Given the description of an element on the screen output the (x, y) to click on. 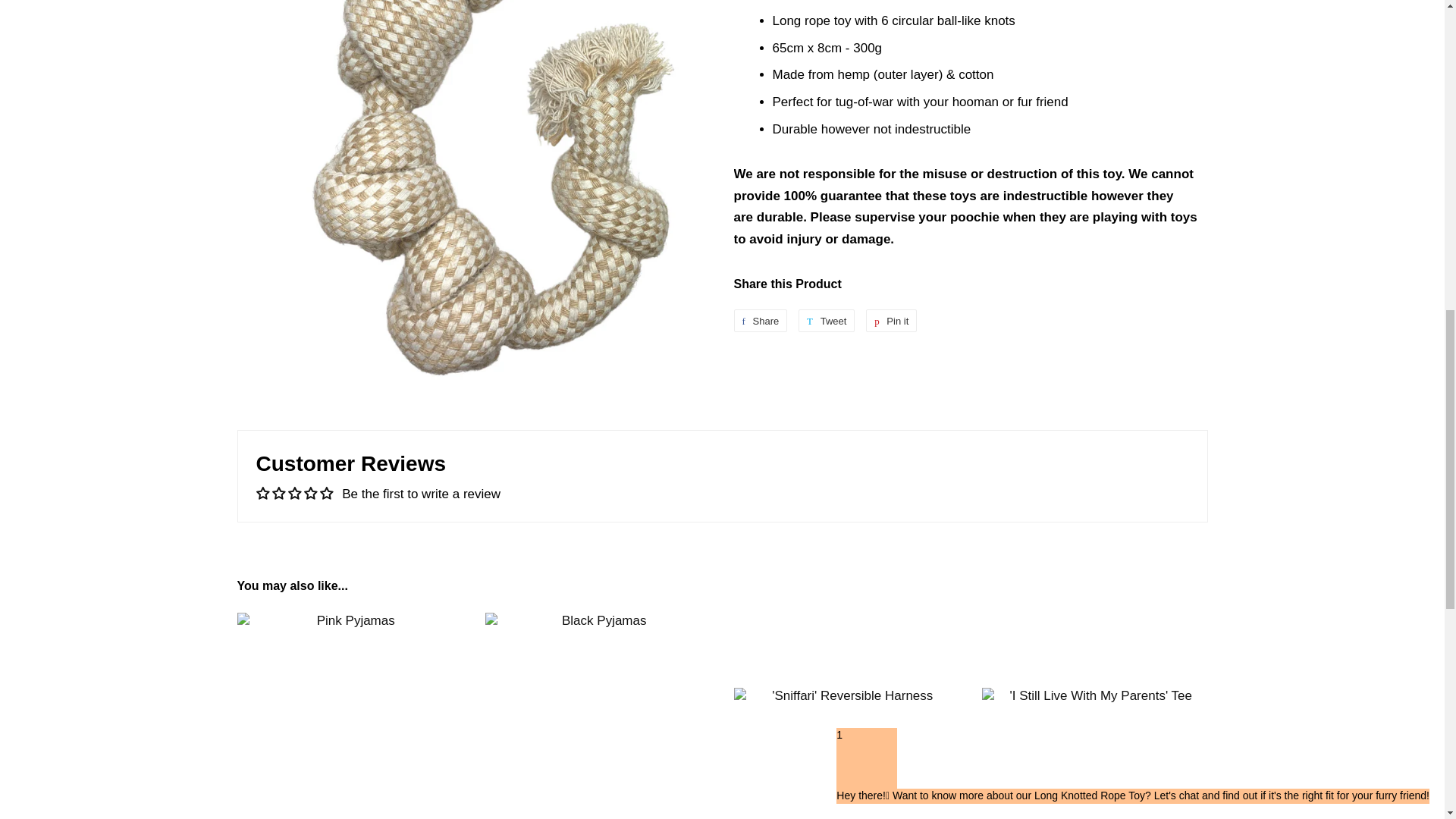
Share on Facebook (760, 320)
Tweet on Twitter (825, 320)
Pin on Pinterest (891, 320)
